Given the description of an element on the screen output the (x, y) to click on. 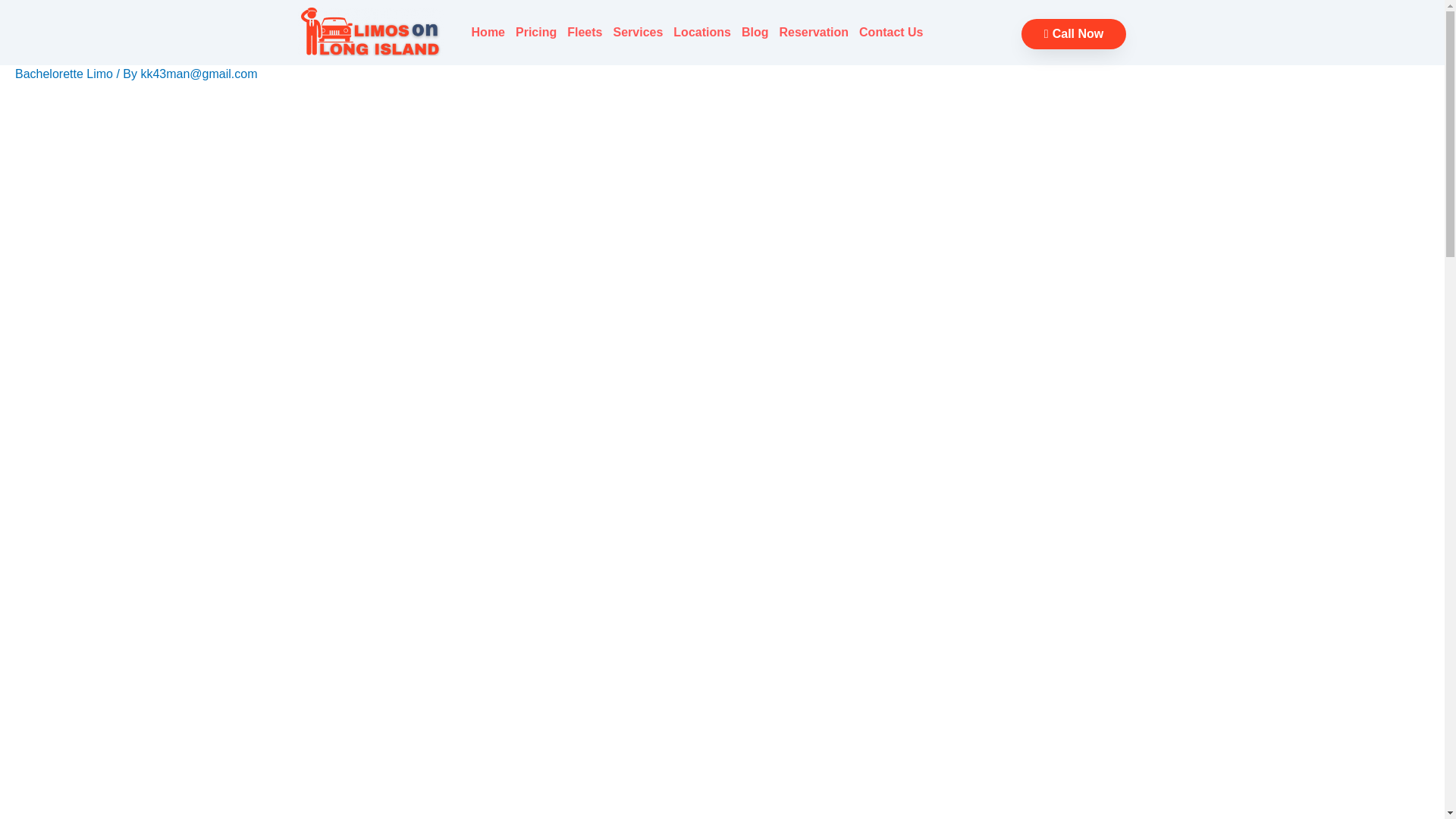
Contact Us (890, 32)
Reservation (813, 32)
Home (488, 32)
Fleets (584, 32)
Locations (702, 32)
Pricing (536, 32)
Services (638, 32)
Blog (755, 32)
